Given the description of an element on the screen output the (x, y) to click on. 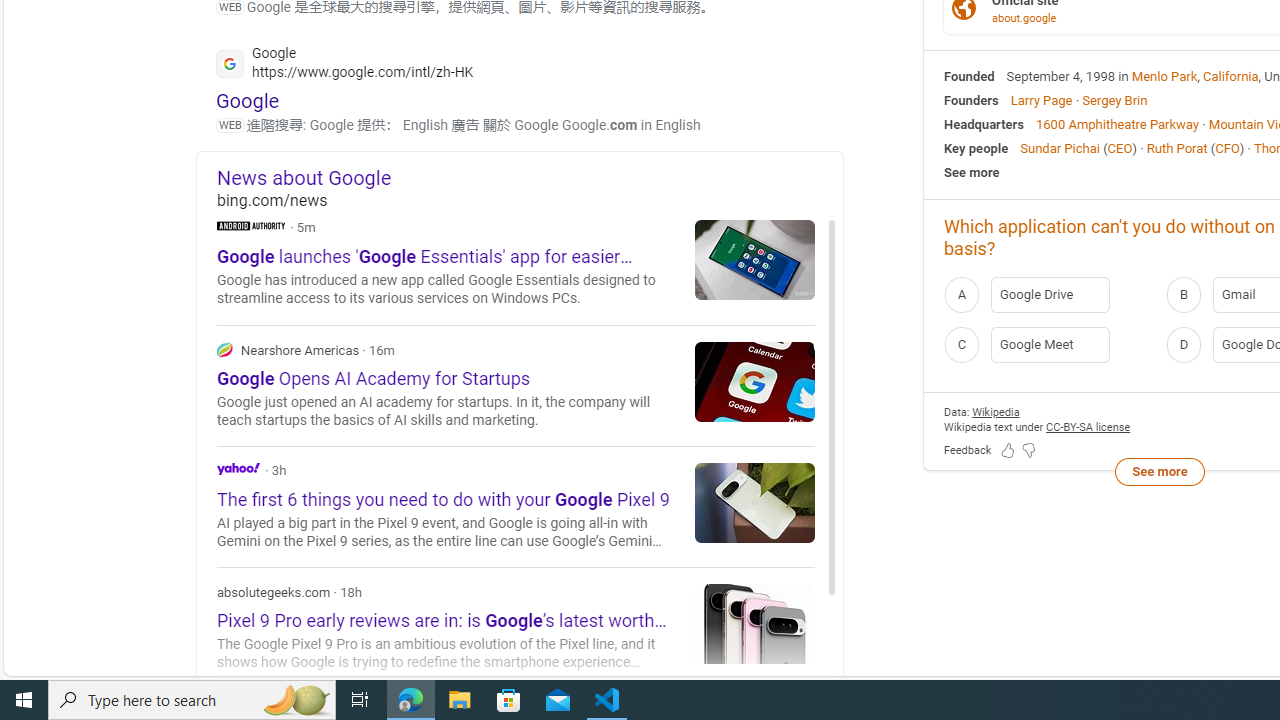
Feedback Like (1007, 450)
Larry Page (1040, 100)
1600 Amphitheatre Parkway (1117, 123)
Sundar Pichai (1059, 147)
Founded (969, 75)
Ruth Porat (1176, 147)
A Google Drive (1049, 294)
California (1231, 75)
CFO (1227, 147)
News about Google (530, 177)
Yahoo (516, 506)
absolutegeeks.com (516, 627)
